Given the description of an element on the screen output the (x, y) to click on. 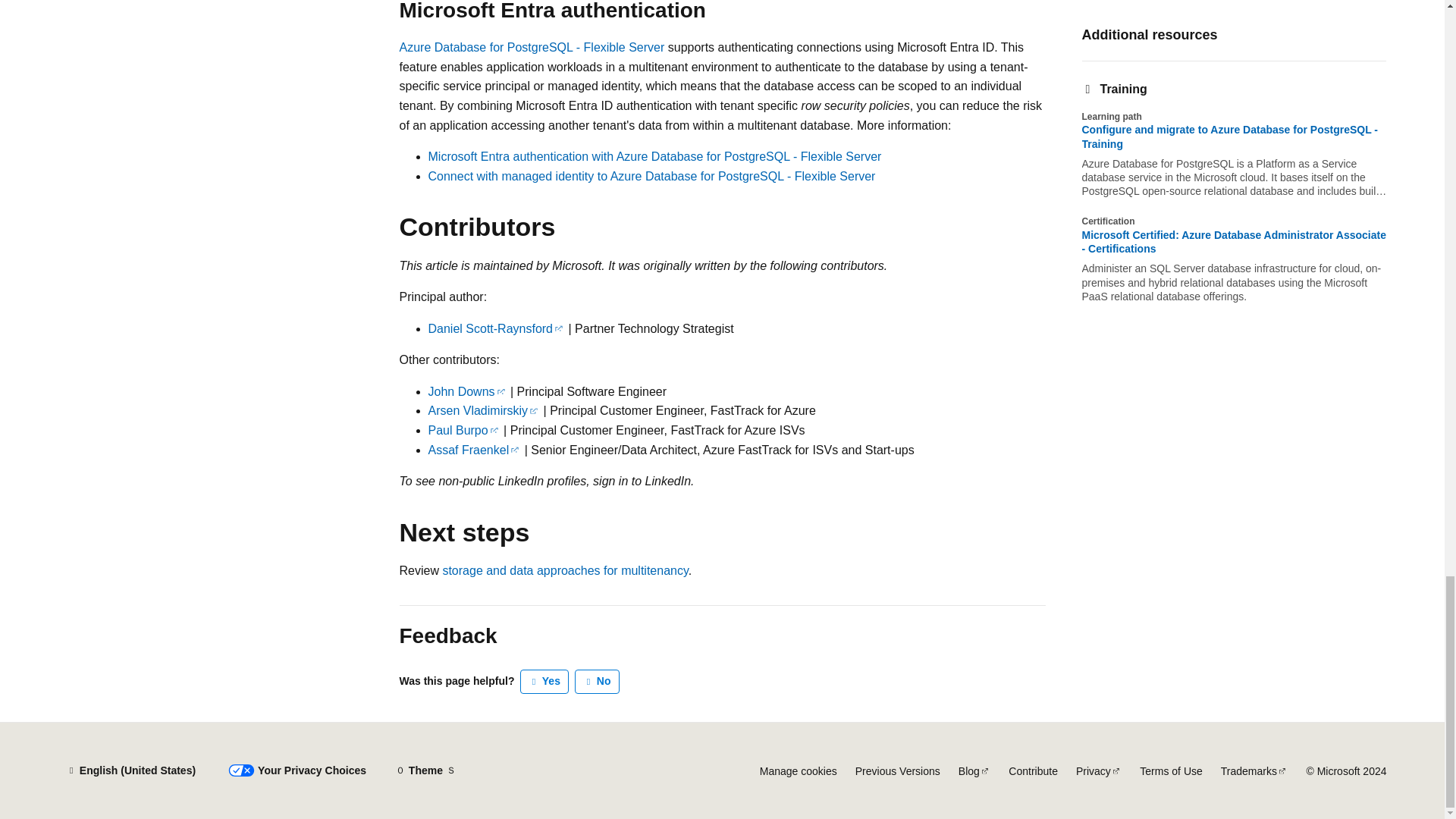
This article is not helpful (597, 681)
This article is helpful (544, 681)
Theme (425, 770)
